Given the description of an element on the screen output the (x, y) to click on. 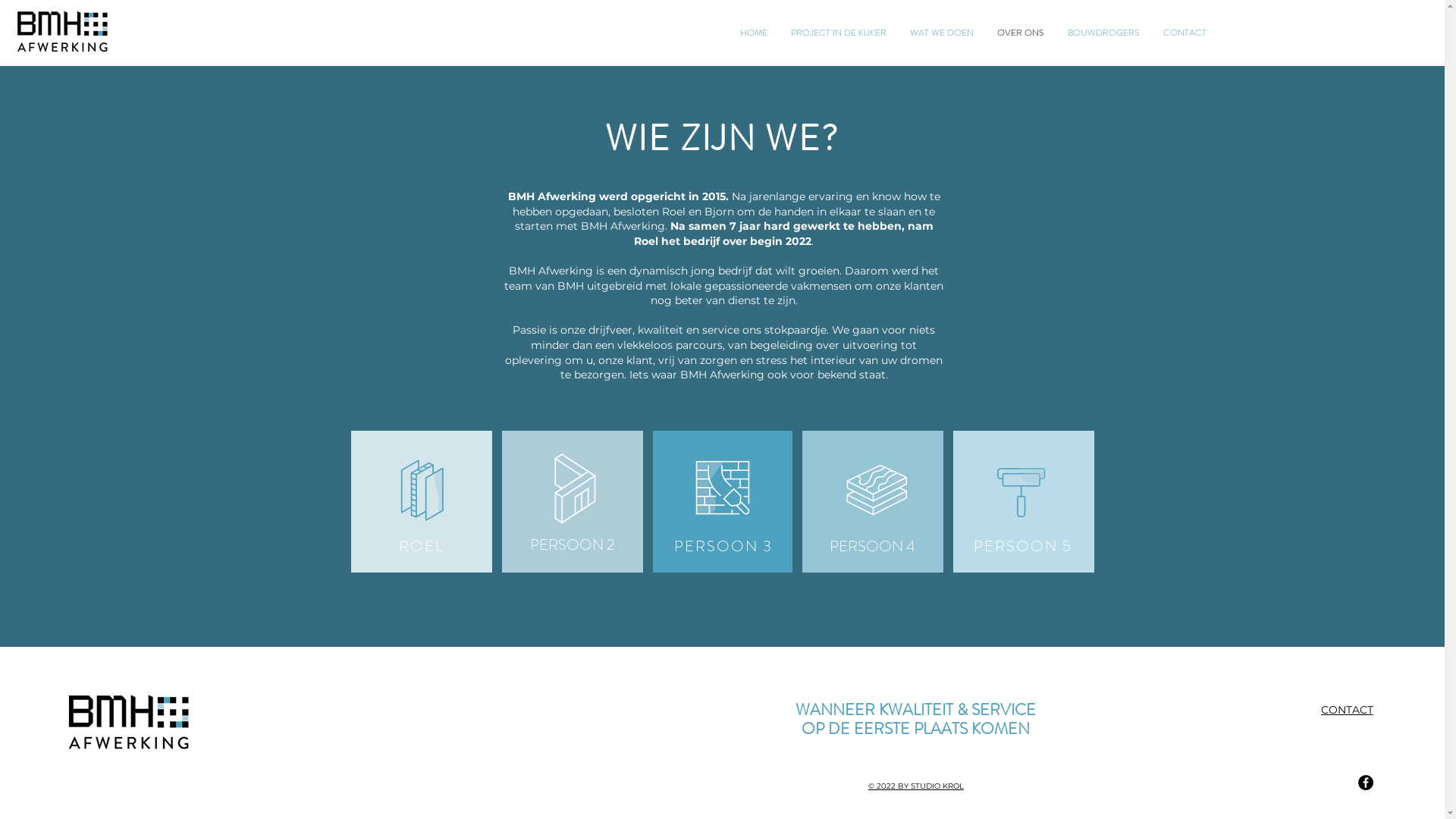
CONTACT Element type: text (1184, 32)
WAT WE DOEN Element type: text (941, 32)
BOUWDROGERS Element type: text (1103, 32)
HOME Element type: text (753, 32)
OVER ONS Element type: text (1019, 32)
PROJECT IN DE KIJKER Element type: text (837, 32)
CONTACT Element type: text (1347, 709)
